Given the description of an element on the screen output the (x, y) to click on. 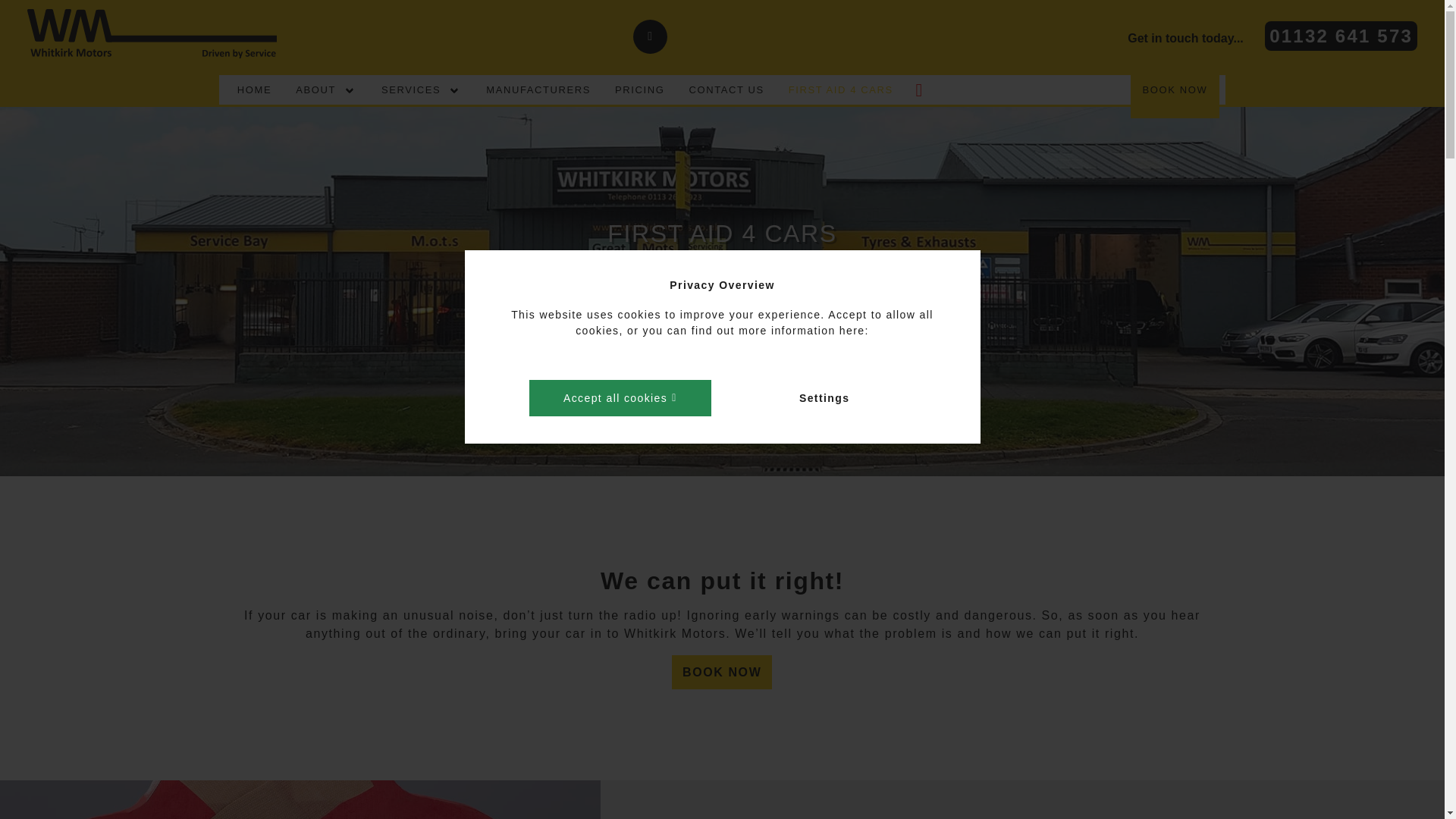
Services (416, 89)
PRICING (639, 89)
CONTACT US (726, 89)
HOME (254, 89)
About (321, 89)
01132 641 573 (1340, 35)
ABOUT (321, 89)
BOOK NOW (1174, 89)
Home (254, 89)
FIRST AID 4 CARS (856, 89)
SERVICES (416, 89)
MANUFACTURERS (538, 89)
